Given the description of an element on the screen output the (x, y) to click on. 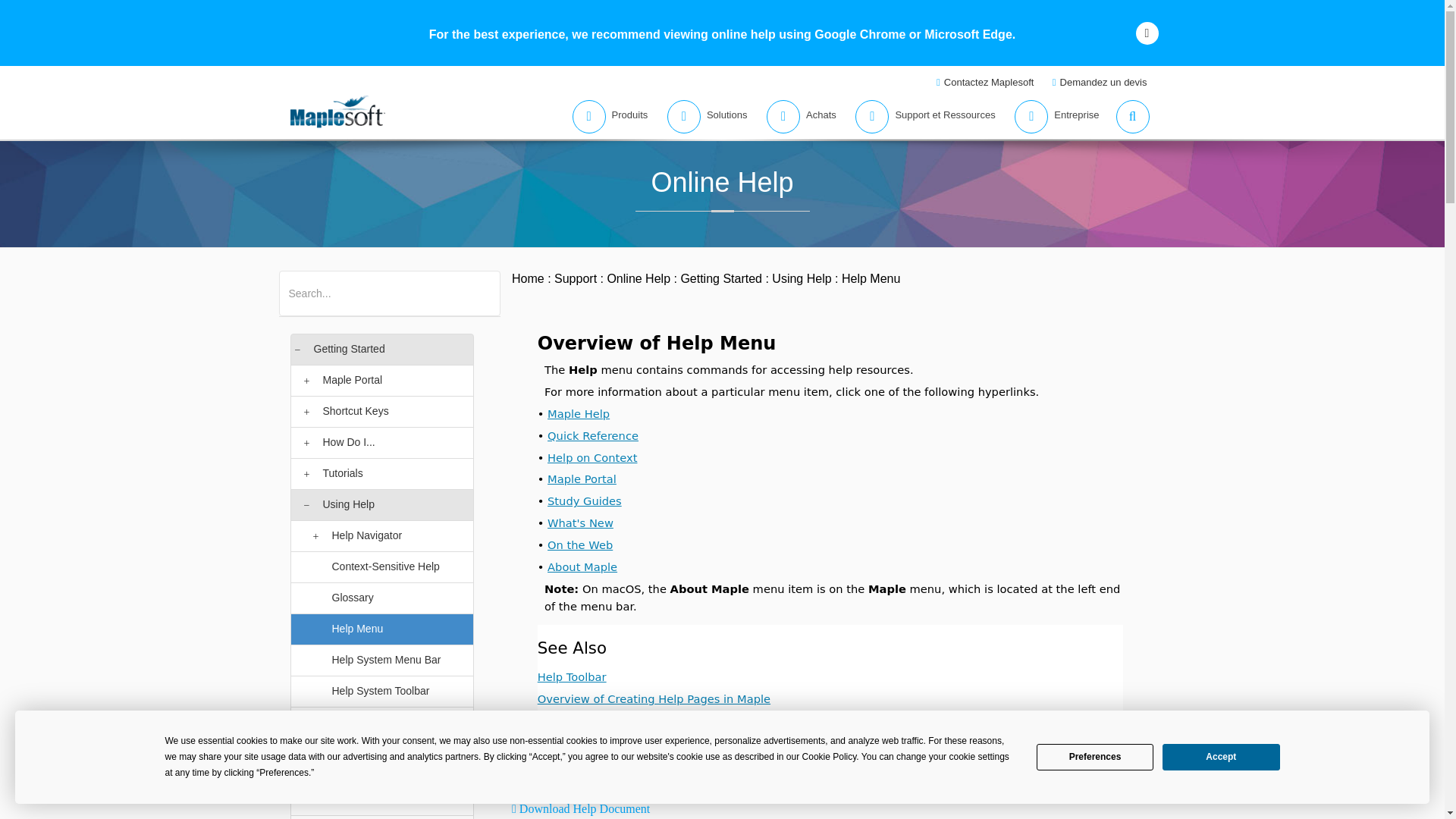
Demandez un devis (1102, 81)
MapleSim (415, 284)
Solutions (702, 116)
Produits (604, 116)
Accept (1220, 756)
Preferences (1094, 756)
All (294, 284)
Contactez Maplesoft (986, 81)
Maple (367, 284)
